Given the description of an element on the screen output the (x, y) to click on. 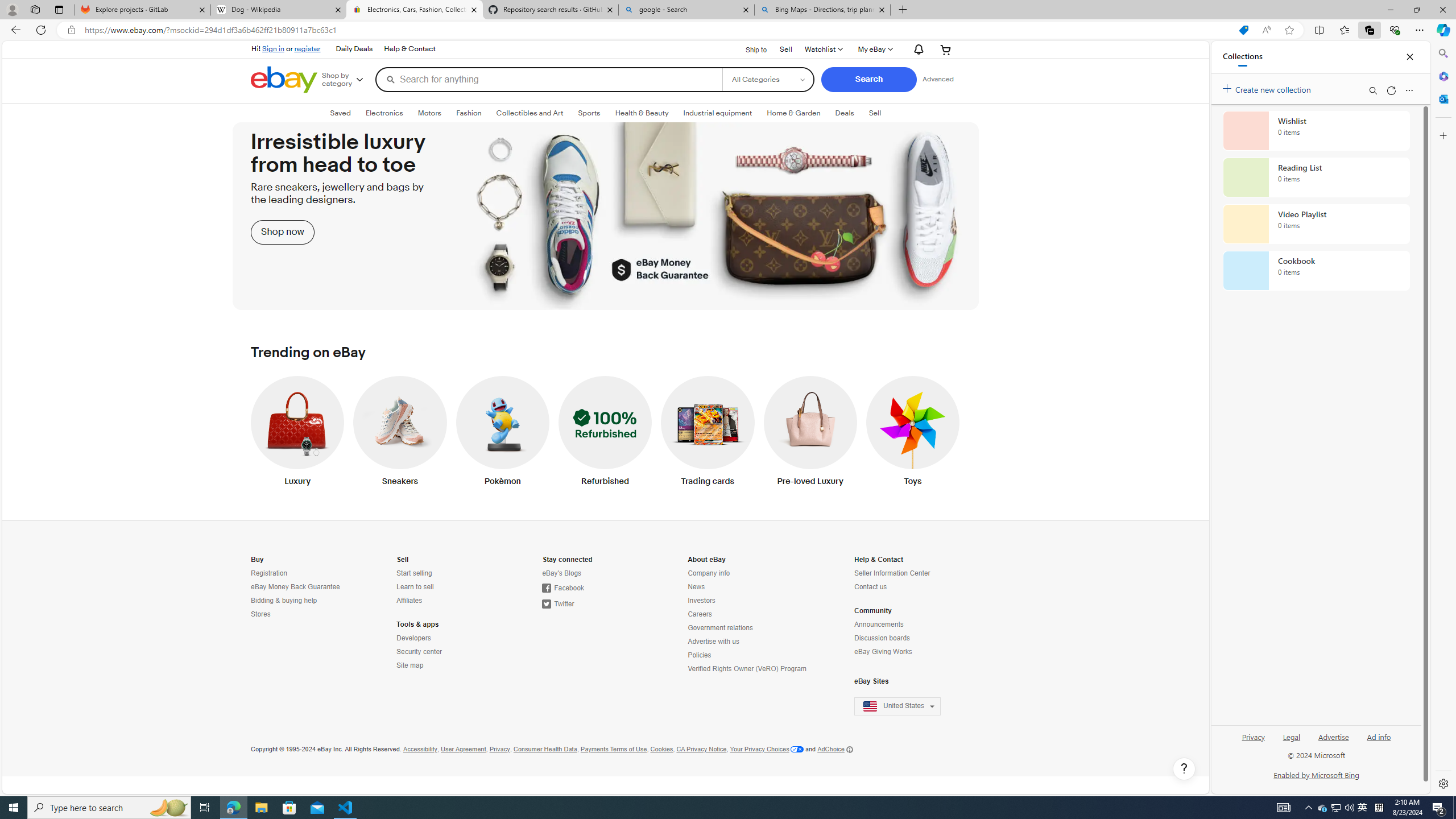
Contact us (904, 587)
Saved (340, 112)
Twitter (558, 604)
eBay Money Back Guarantee (295, 587)
My eBayExpand My eBay (874, 49)
Luxury (297, 433)
Facebook (562, 587)
Discussion boards (904, 638)
Twitter (592, 604)
Verified Rights Owner (VeRO) Program (748, 669)
Payments Terms of Use (613, 749)
Stores (260, 614)
Advanced Search (937, 78)
